Given the description of an element on the screen output the (x, y) to click on. 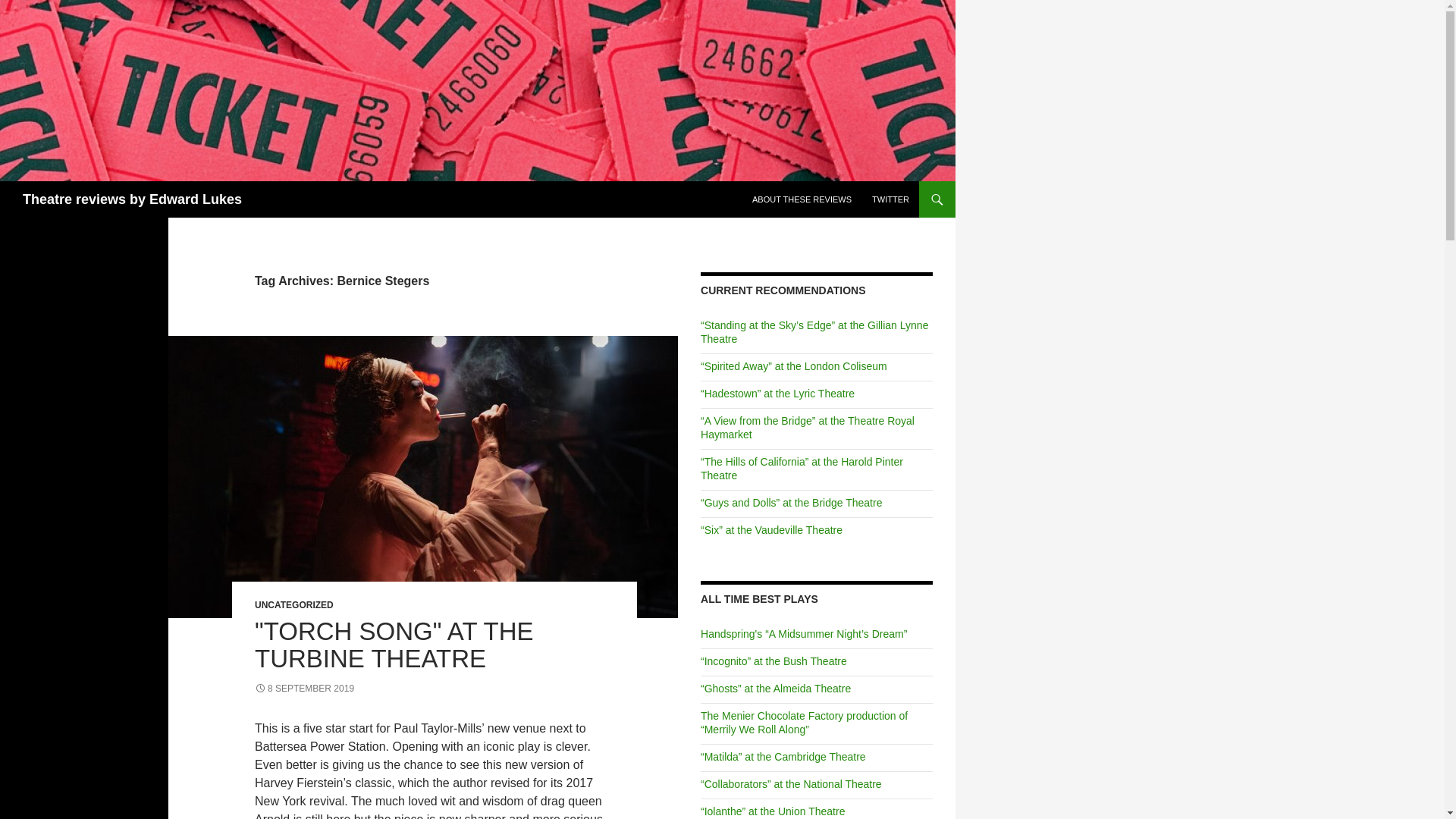
UNCATEGORIZED (293, 604)
ABOUT THESE REVIEWS (801, 198)
"TORCH SONG" AT THE TURBINE THEATRE (394, 644)
TWITTER (890, 198)
Theatre reviews by Edward Lukes (132, 198)
8 SEPTEMBER 2019 (303, 688)
